Given the description of an element on the screen output the (x, y) to click on. 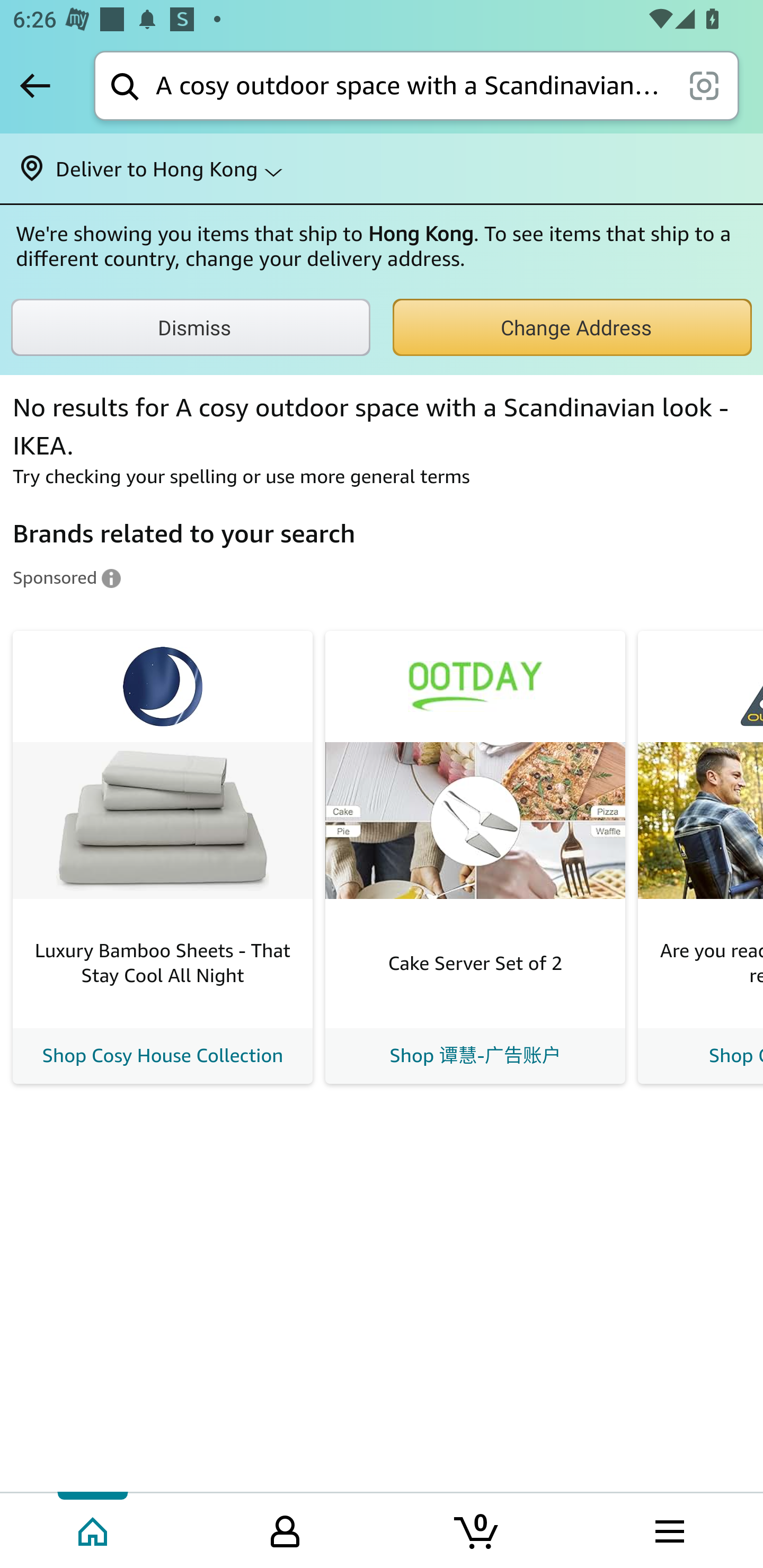
Back (35, 85)
scan it (704, 85)
Deliver to Hong Kong ⌵ (381, 168)
Dismiss (190, 327)
Change Address (571, 327)
Leave feedback on Sponsored ad (67, 577)
Home Tab 1 of 4 (94, 1529)
Your Amazon.com Tab 2 of 4 (285, 1529)
Cart 0 item Tab 3 of 4 0 (477, 1529)
Browse menu Tab 4 of 4 (668, 1529)
